Given the description of an element on the screen output the (x, y) to click on. 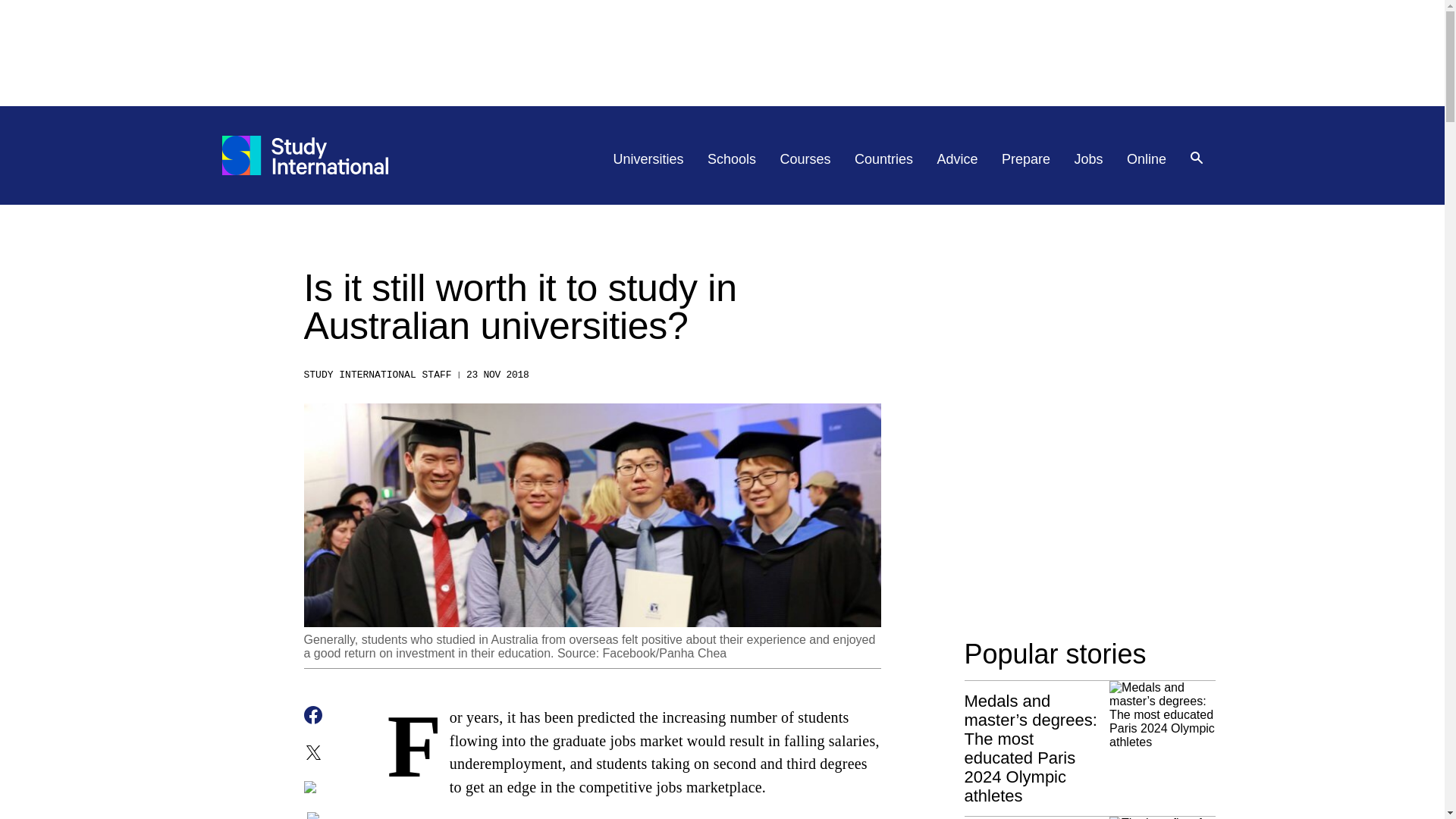
3rd party ad content (721, 52)
Countries (883, 159)
Advice (957, 159)
Jobs (1088, 159)
Universities (648, 159)
Prepare (1025, 159)
Online (1146, 159)
Panha Chea (692, 653)
3rd party ad content (1078, 497)
STUDY INTERNATIONAL STAFF (376, 374)
